Given the description of an element on the screen output the (x, y) to click on. 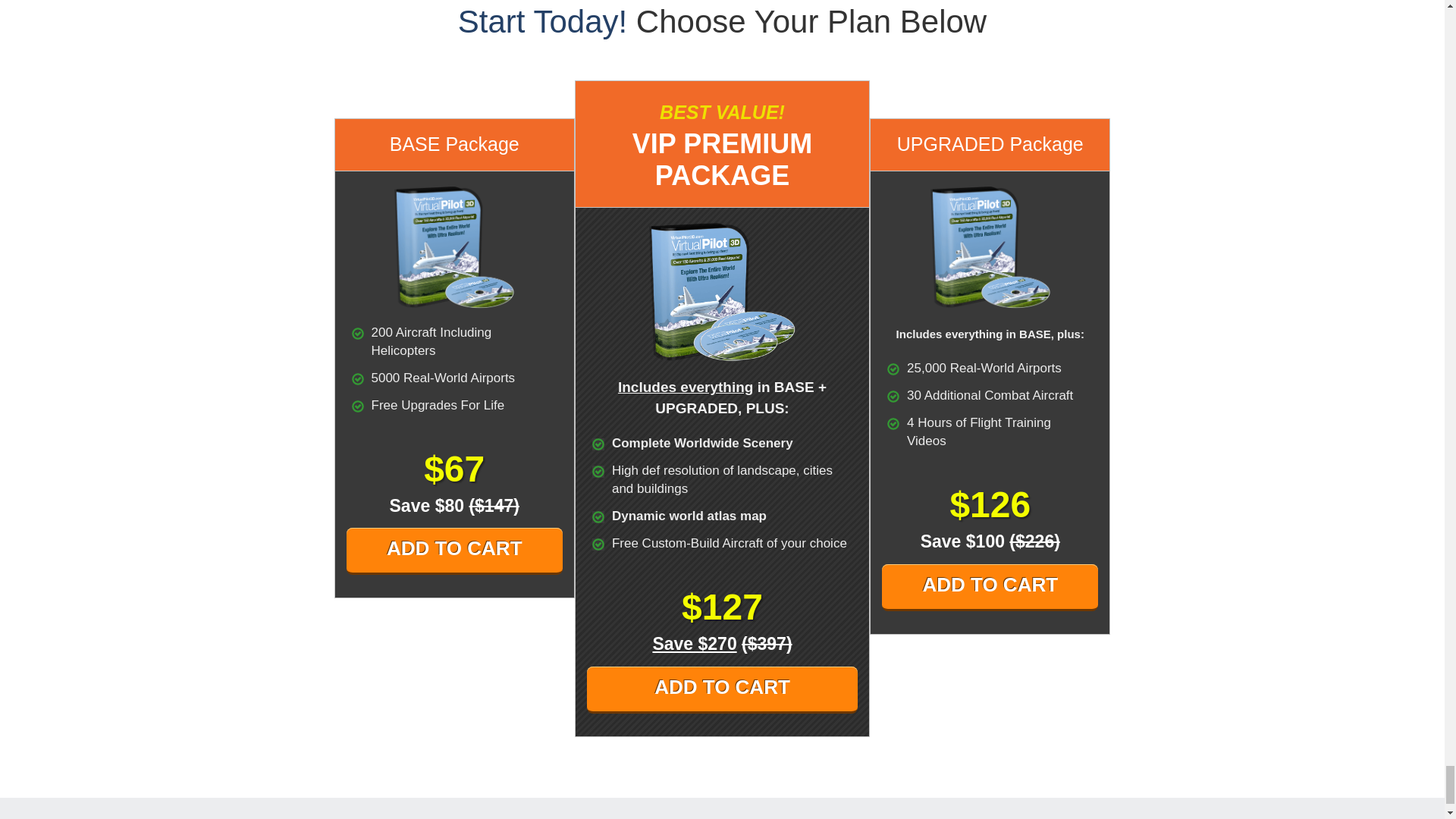
ADD TO CART (454, 550)
ADD TO CART (989, 587)
ADD TO CART (721, 689)
